Given the description of an element on the screen output the (x, y) to click on. 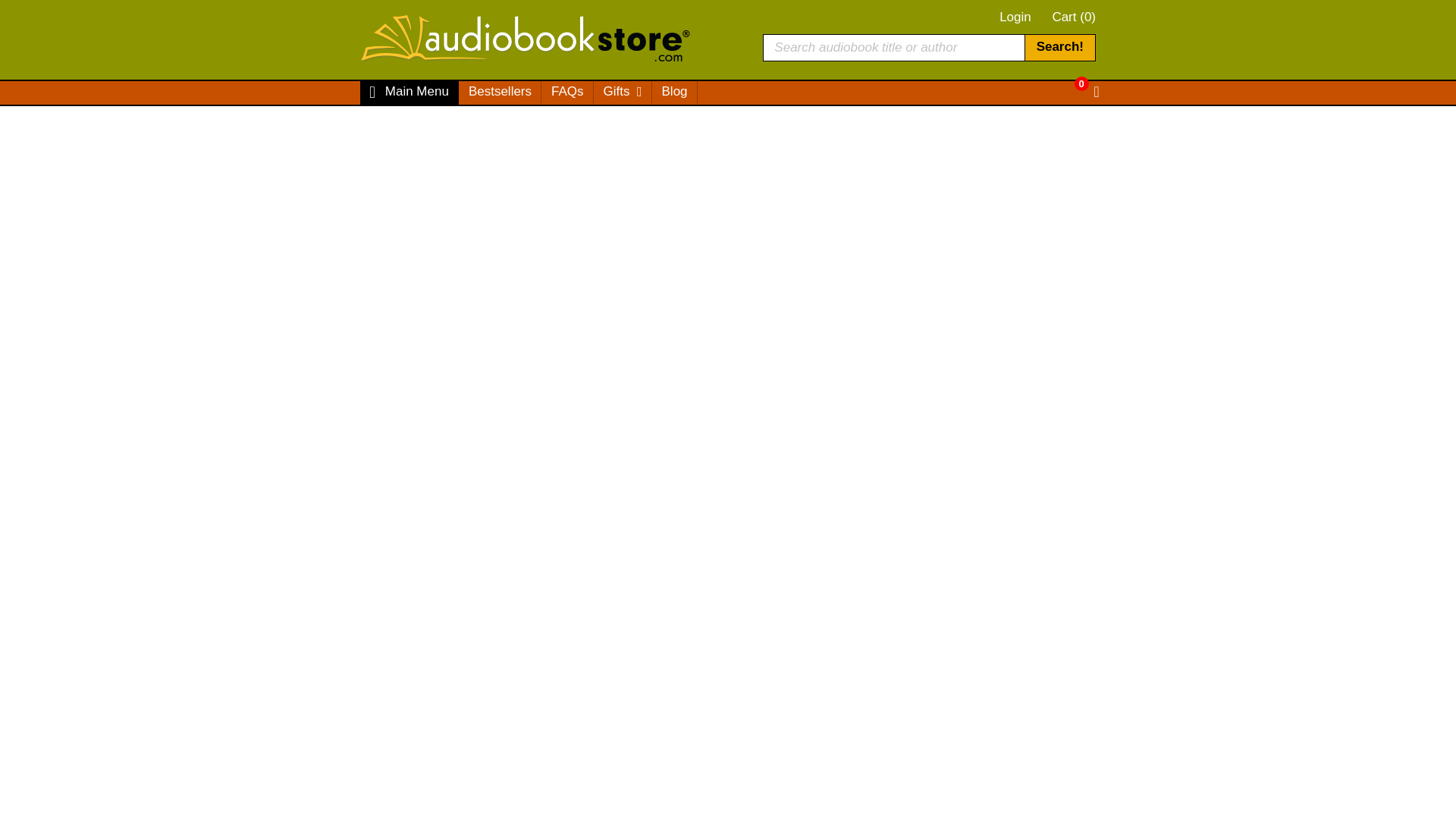
Shopping cart (1086, 92)
Shopping cart (1073, 16)
Search! (1059, 47)
Shopping cart (1072, 83)
